Given the description of an element on the screen output the (x, y) to click on. 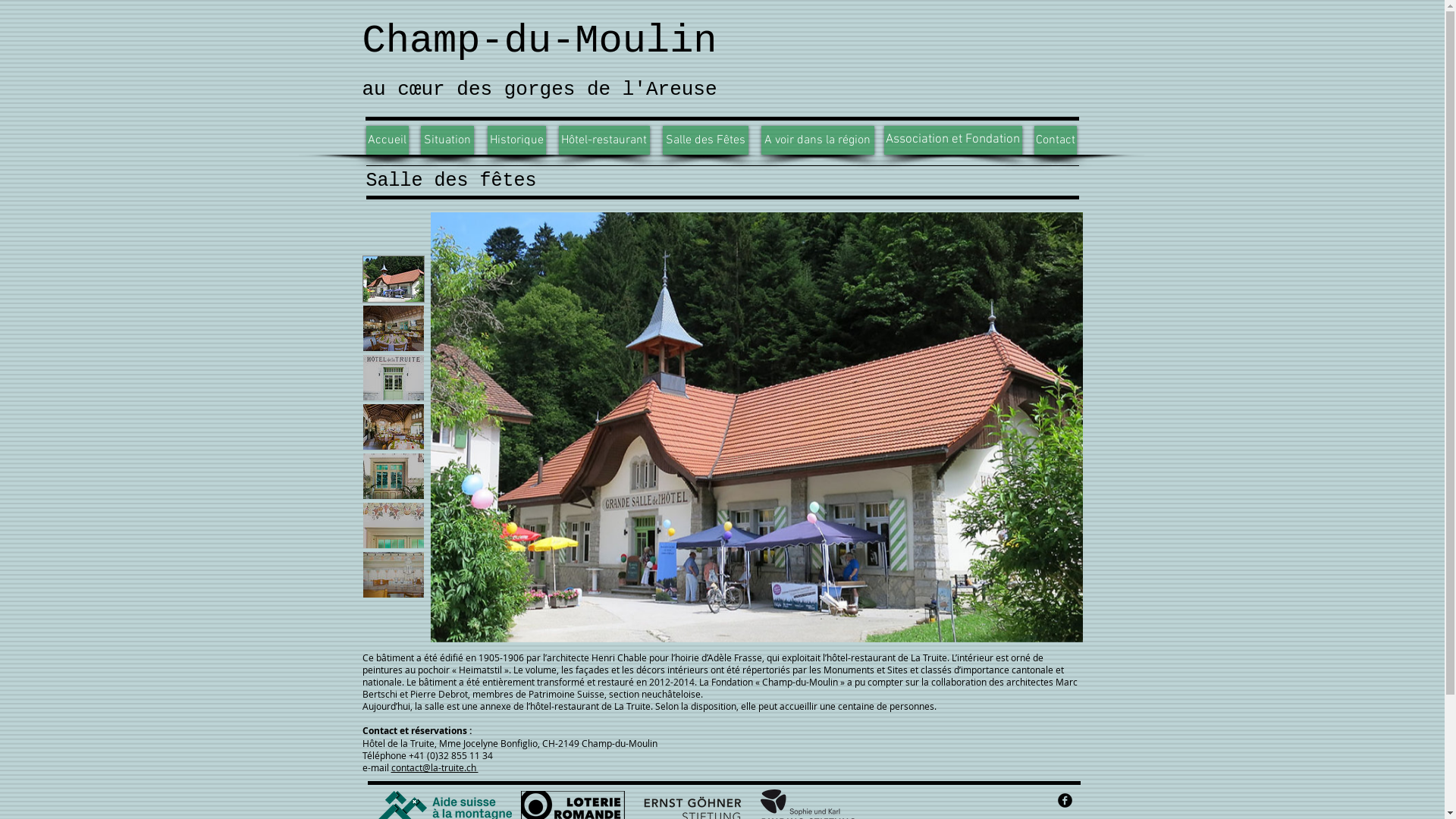
Contact Element type: text (1055, 139)
Association et Fondation Element type: text (953, 139)
Historique Element type: text (515, 139)
Accueil Element type: text (386, 139)
Situation Element type: text (446, 139)
contact@la-truite.ch  Element type: text (434, 767)
